Given the description of an element on the screen output the (x, y) to click on. 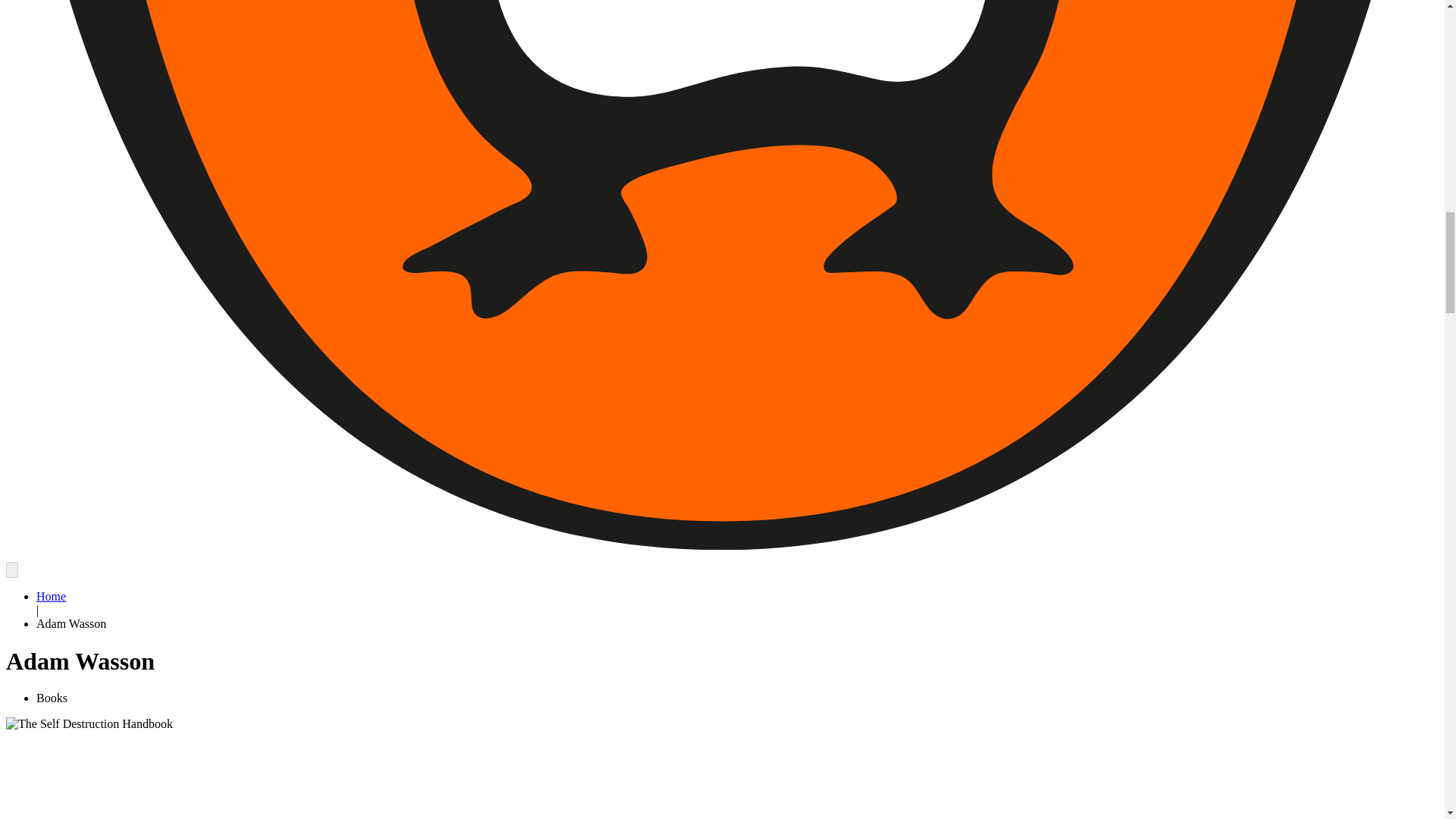
Home (50, 595)
